Given the description of an element on the screen output the (x, y) to click on. 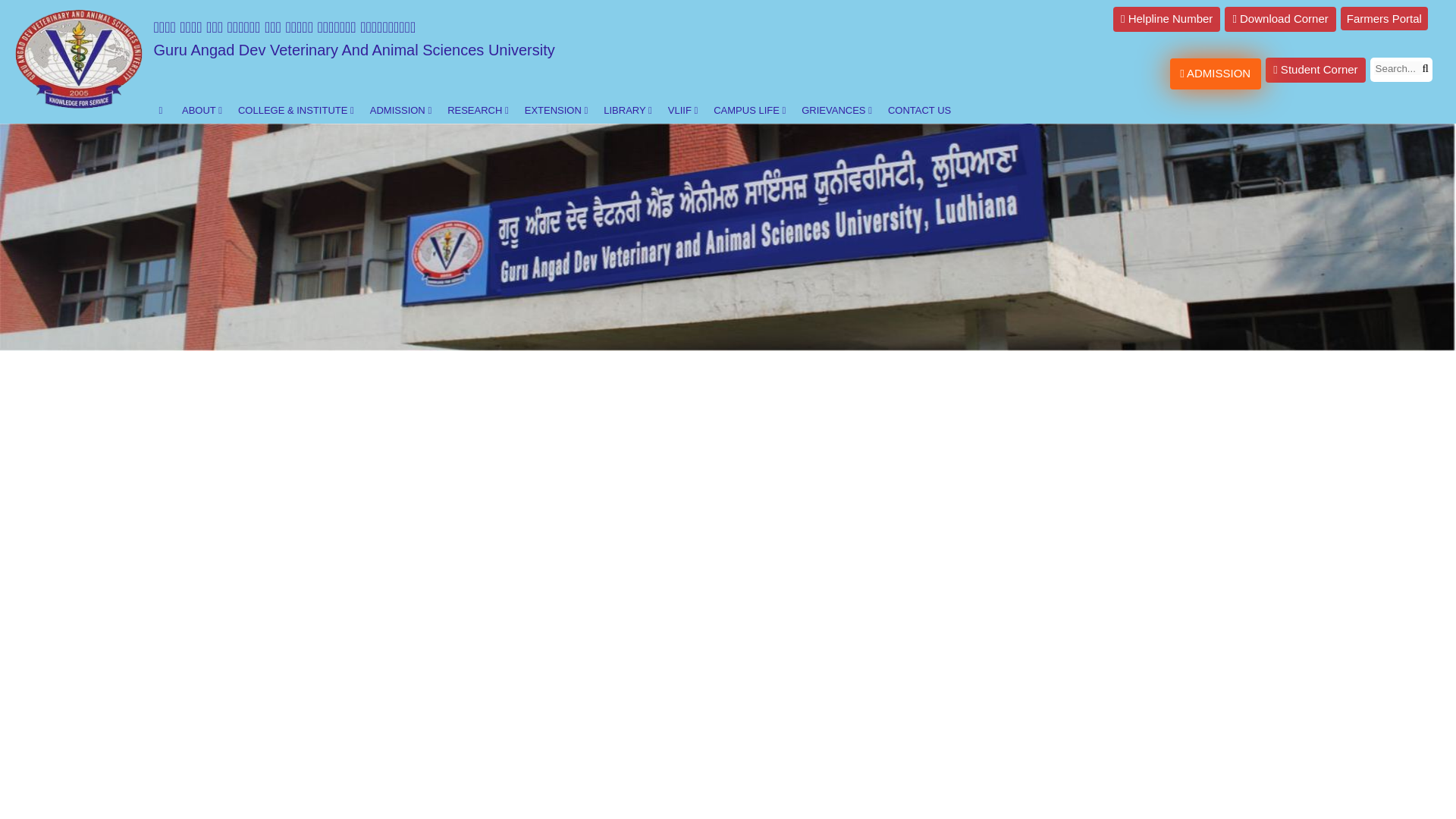
Helpline Number (1166, 18)
Download Corner (1279, 18)
ABOUT (199, 110)
 ADMISSION (1215, 73)
Farmers Portal (1384, 18)
Student Corner (1315, 69)
